Given the description of an element on the screen output the (x, y) to click on. 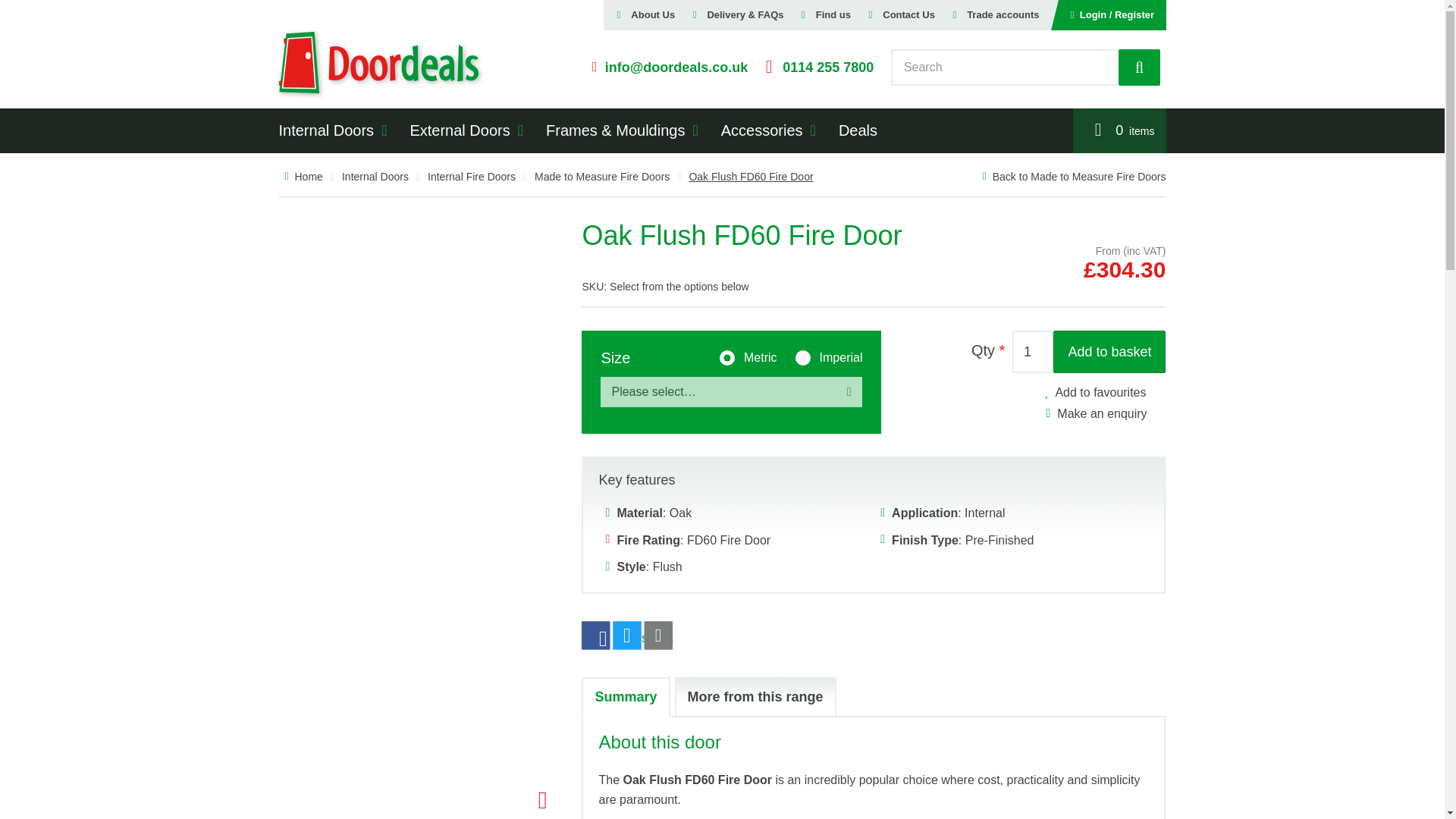
Internal Doors (326, 130)
About Us (653, 15)
External Doors (459, 130)
Search (1139, 67)
Find us (832, 15)
0114 255 7800 (814, 67)
Trade accounts (1002, 15)
1 (1031, 351)
Contact Us (908, 15)
